Given the description of an element on the screen output the (x, y) to click on. 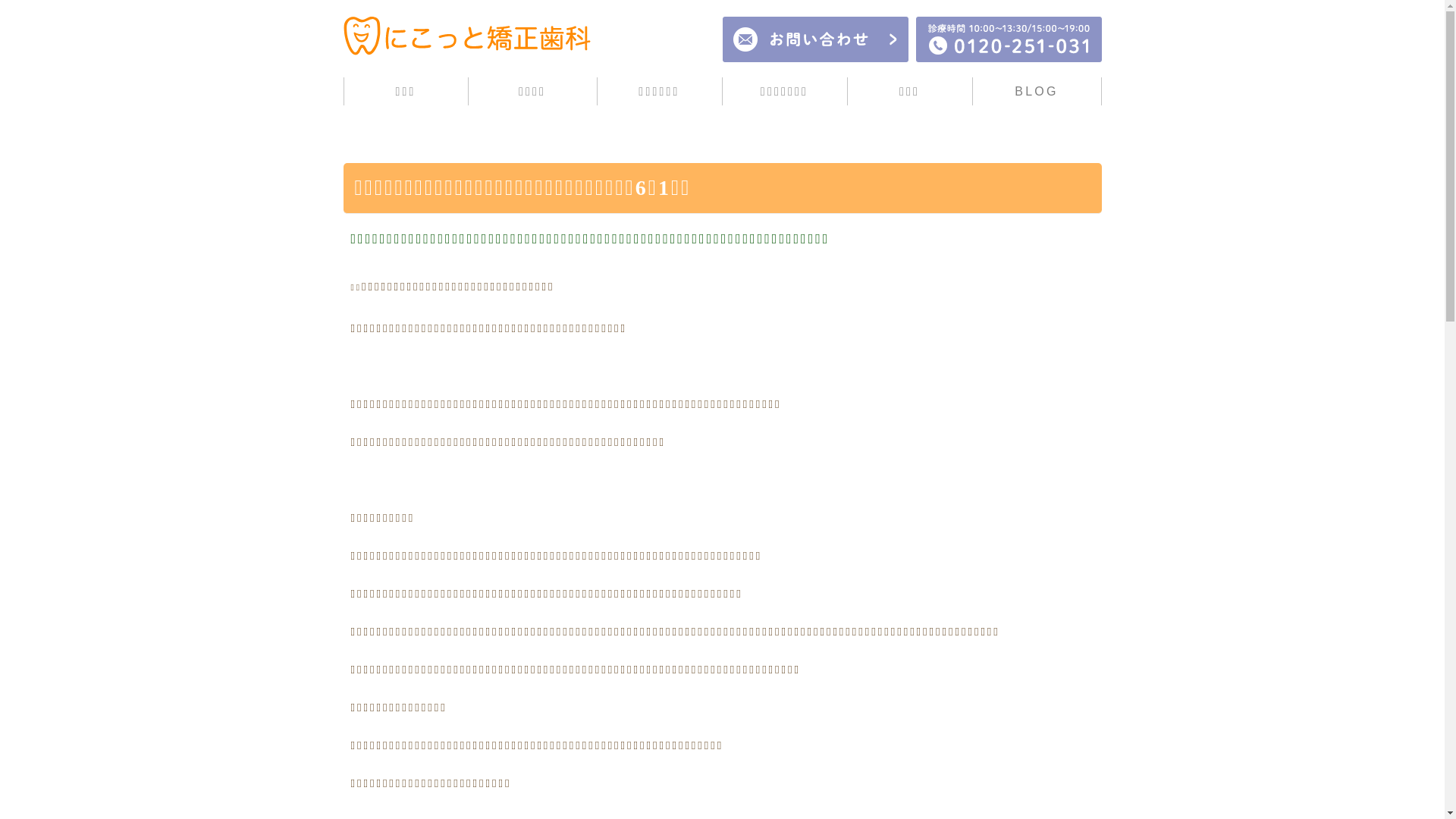
BLOG Element type: text (1036, 91)
